Given the description of an element on the screen output the (x, y) to click on. 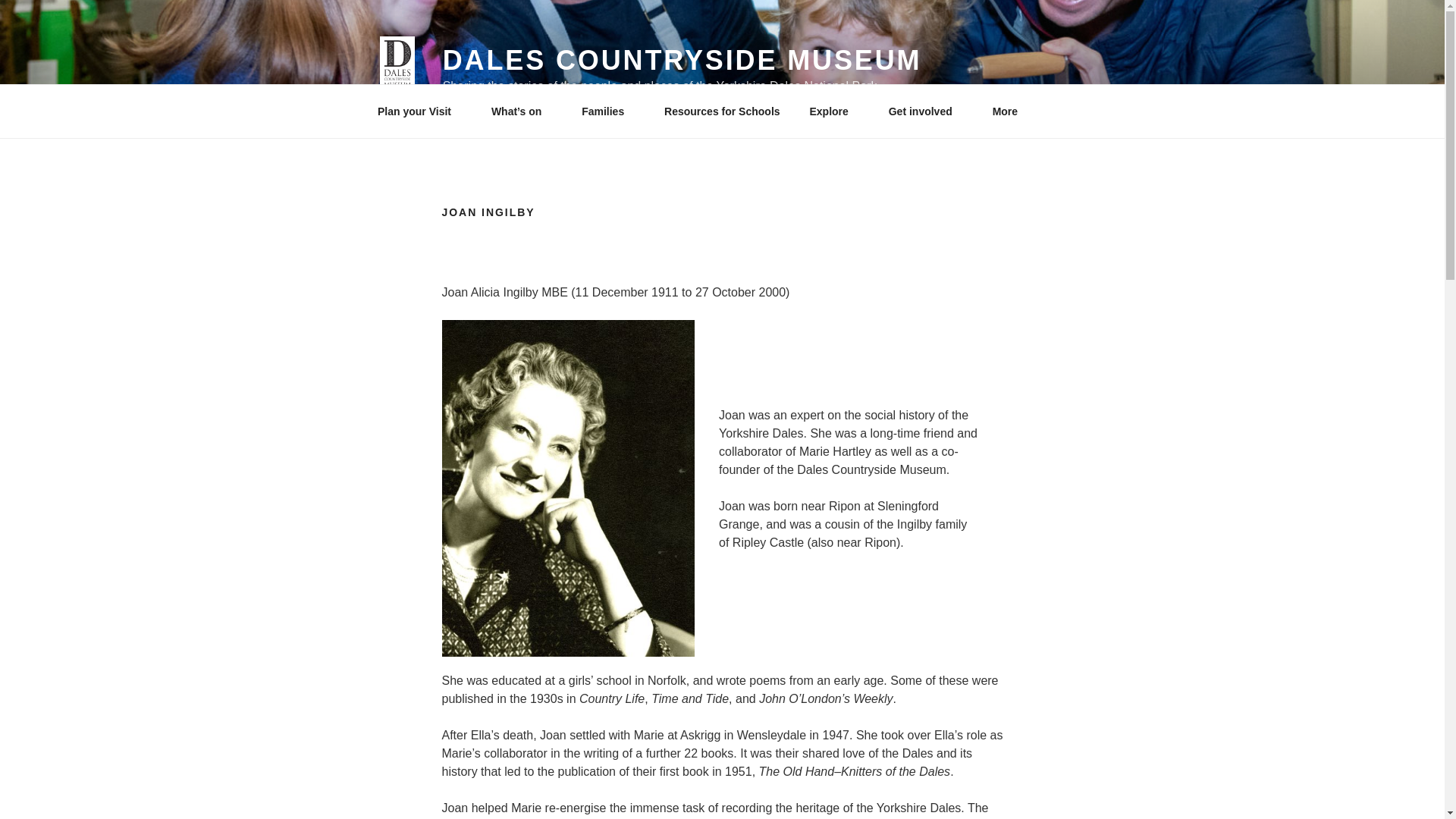
DALES COUNTRYSIDE MUSEUM (681, 60)
Get involved (925, 110)
Plan your Visit (419, 110)
More (1009, 110)
Families (608, 110)
Explore (834, 110)
Resources for Schools (721, 110)
